Given the description of an element on the screen output the (x, y) to click on. 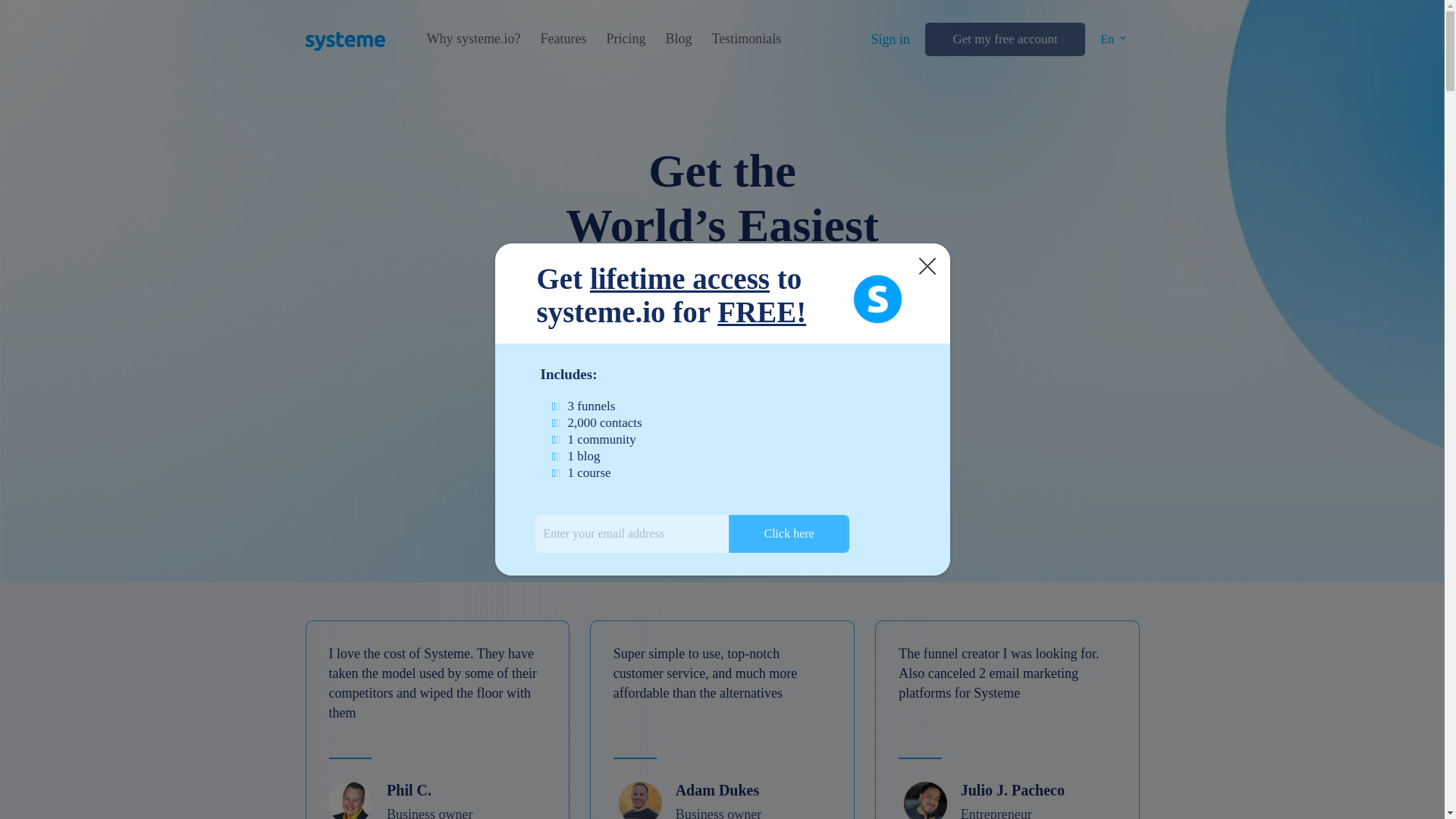
Pricing (625, 38)
Why systeme.io? (472, 38)
Get my free account (1004, 39)
Sign in (890, 39)
Blog (678, 38)
Testimonials (745, 38)
Features (563, 38)
